Given the description of an element on the screen output the (x, y) to click on. 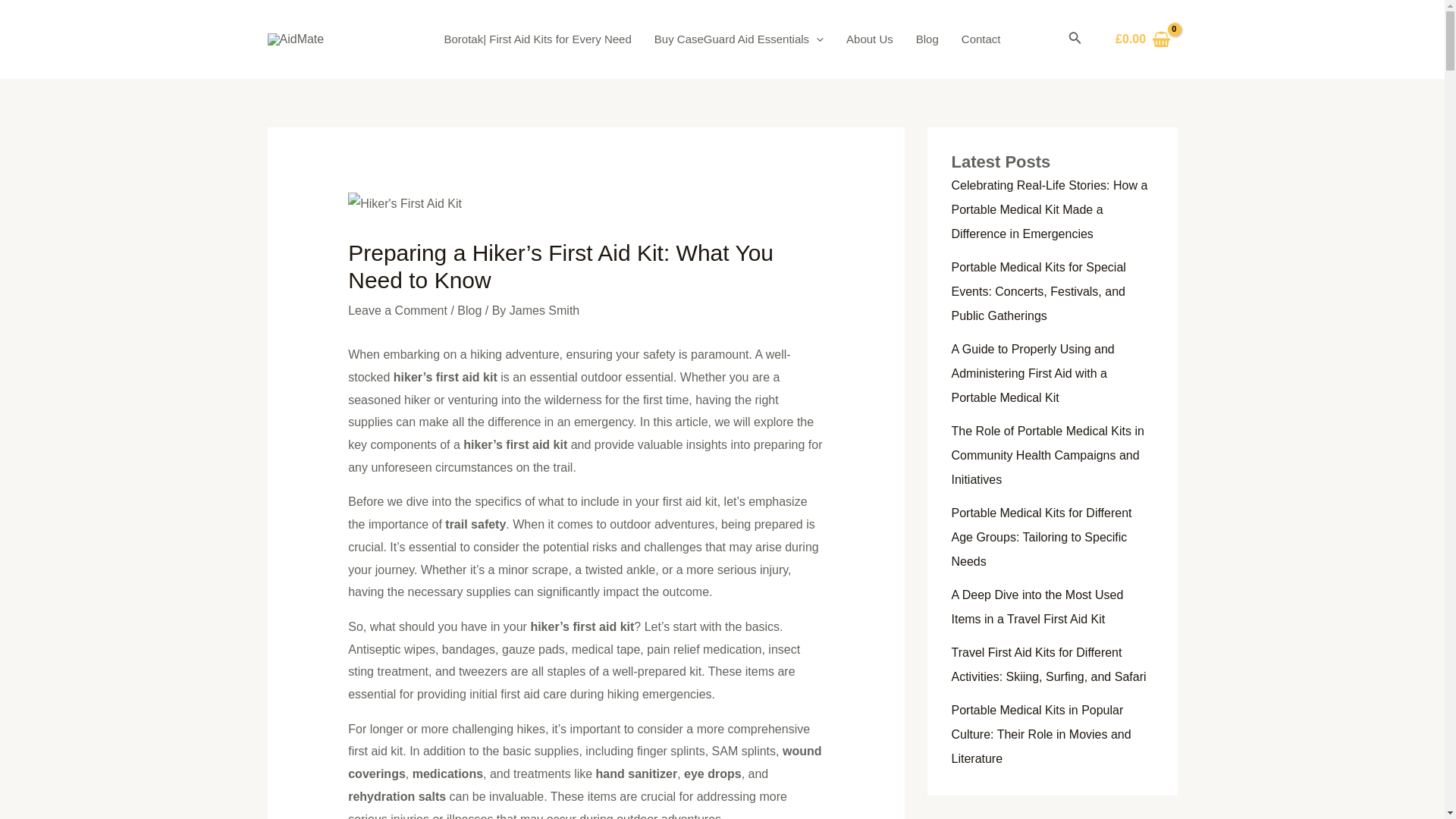
Leave a Comment (396, 309)
View all posts by James Smith (544, 309)
Buy CaseGuard Aid Essentials (738, 39)
Blog (469, 309)
James Smith (544, 309)
